Given the description of an element on the screen output the (x, y) to click on. 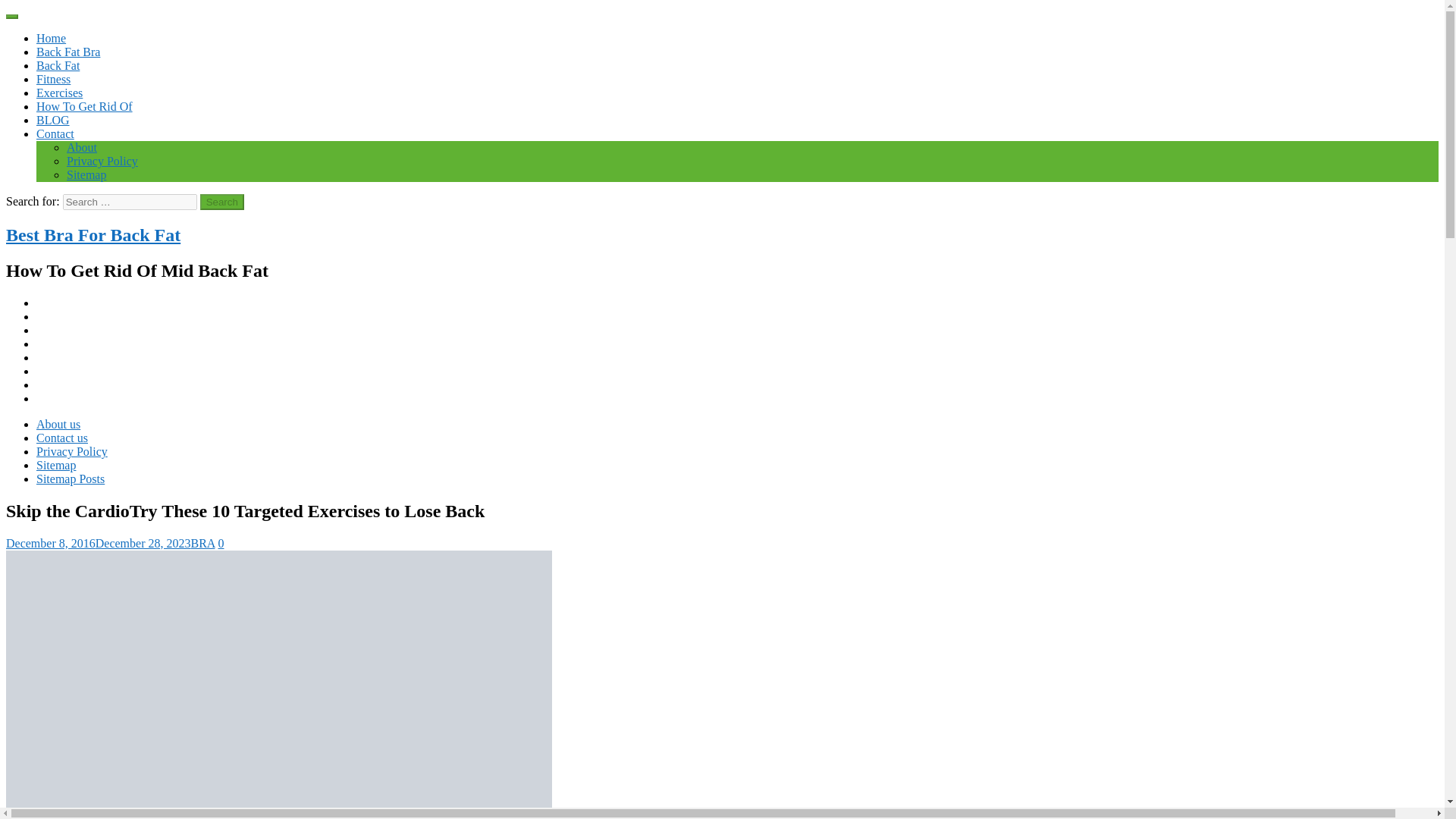
Back Fat (58, 65)
Search (222, 201)
Best Bra For Back Fat (92, 234)
Sitemap Posts (70, 478)
About us (58, 423)
Search (222, 201)
How To Get Rid Of (84, 106)
BLOG (52, 119)
December 8, 2016December 28, 2023 (97, 543)
Sitemap (55, 464)
